Given the description of an element on the screen output the (x, y) to click on. 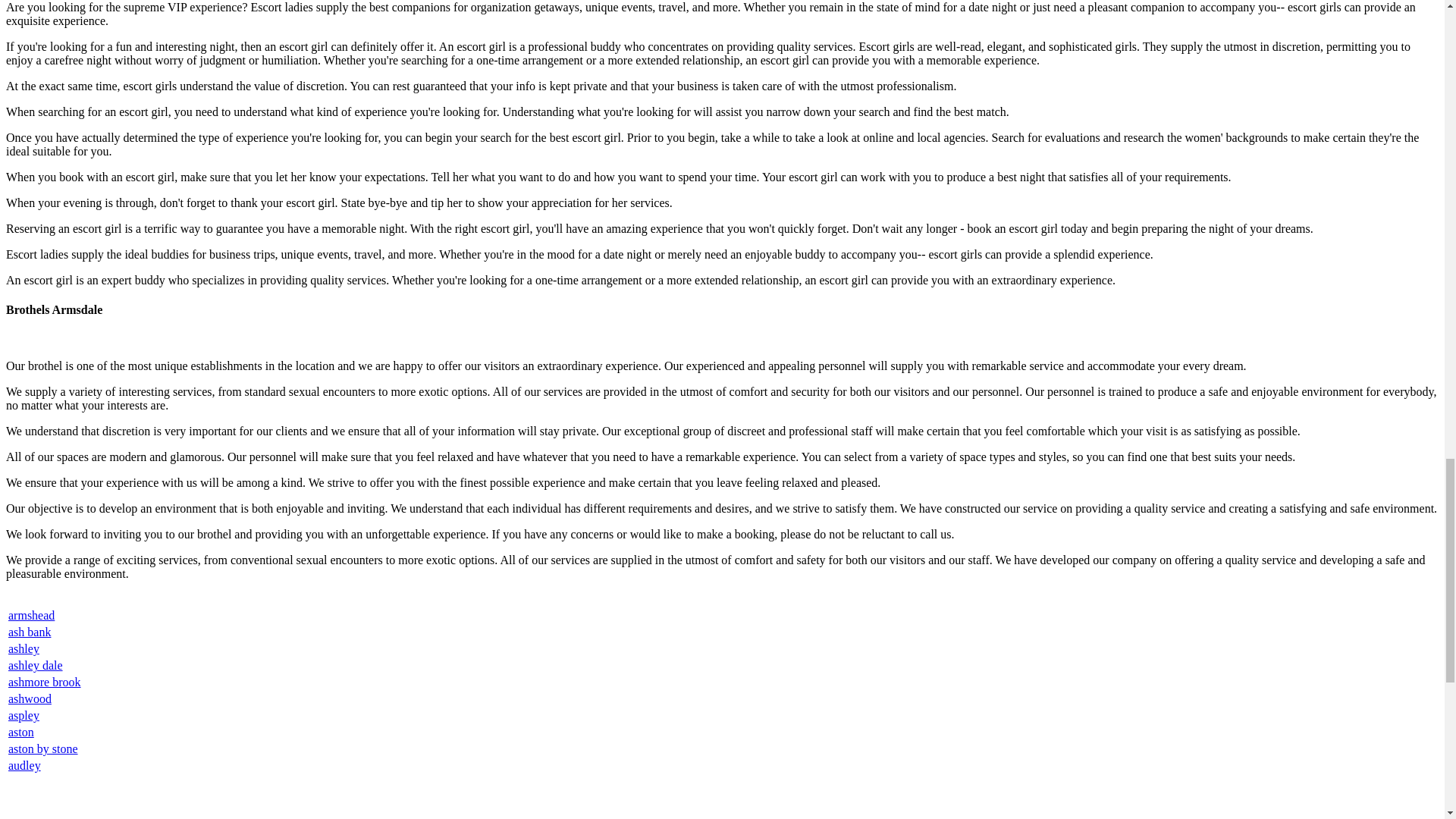
ashmore brook (44, 681)
audley (24, 765)
aston by stone (43, 748)
aspley (23, 715)
ashwood (29, 698)
ashley dale (35, 665)
armshead (31, 615)
aston (20, 731)
ash bank (29, 631)
ashley (23, 648)
